Given the description of an element on the screen output the (x, y) to click on. 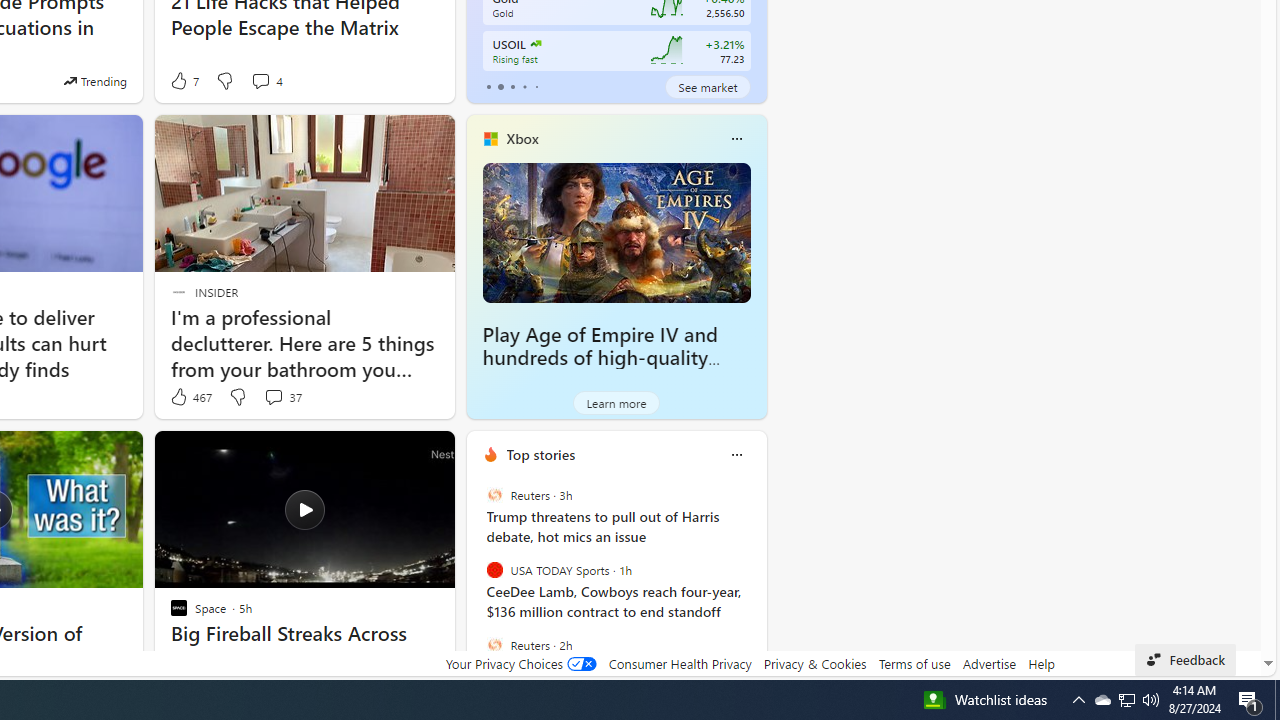
previous (476, 583)
See market (708, 86)
Help (1040, 663)
Xbox (521, 139)
US Oil WTI (534, 43)
tab-2 (511, 86)
Top stories (540, 454)
View comments 37 Comment (273, 396)
Learn more (616, 402)
View comments 37 Comment (281, 397)
tab-3 (524, 86)
467 Like (190, 397)
